Given the description of an element on the screen output the (x, y) to click on. 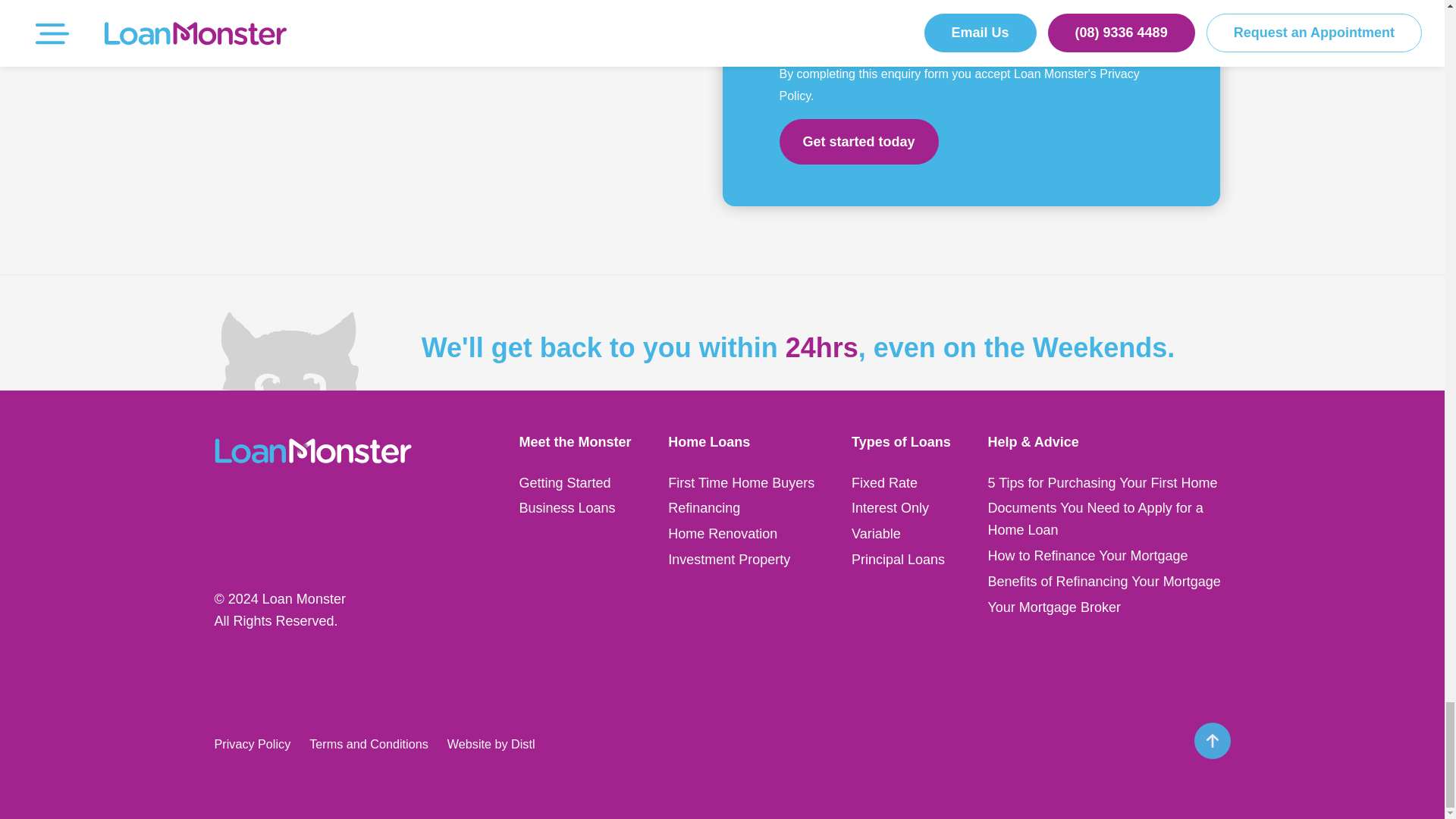
Home Loans (708, 441)
Refinancing (703, 507)
Getting Started (564, 482)
First Time Home Buyers (740, 482)
Business Loans (566, 507)
Meet the Monster (574, 441)
Get started today (858, 141)
Privacy Policy (959, 84)
